Given the description of an element on the screen output the (x, y) to click on. 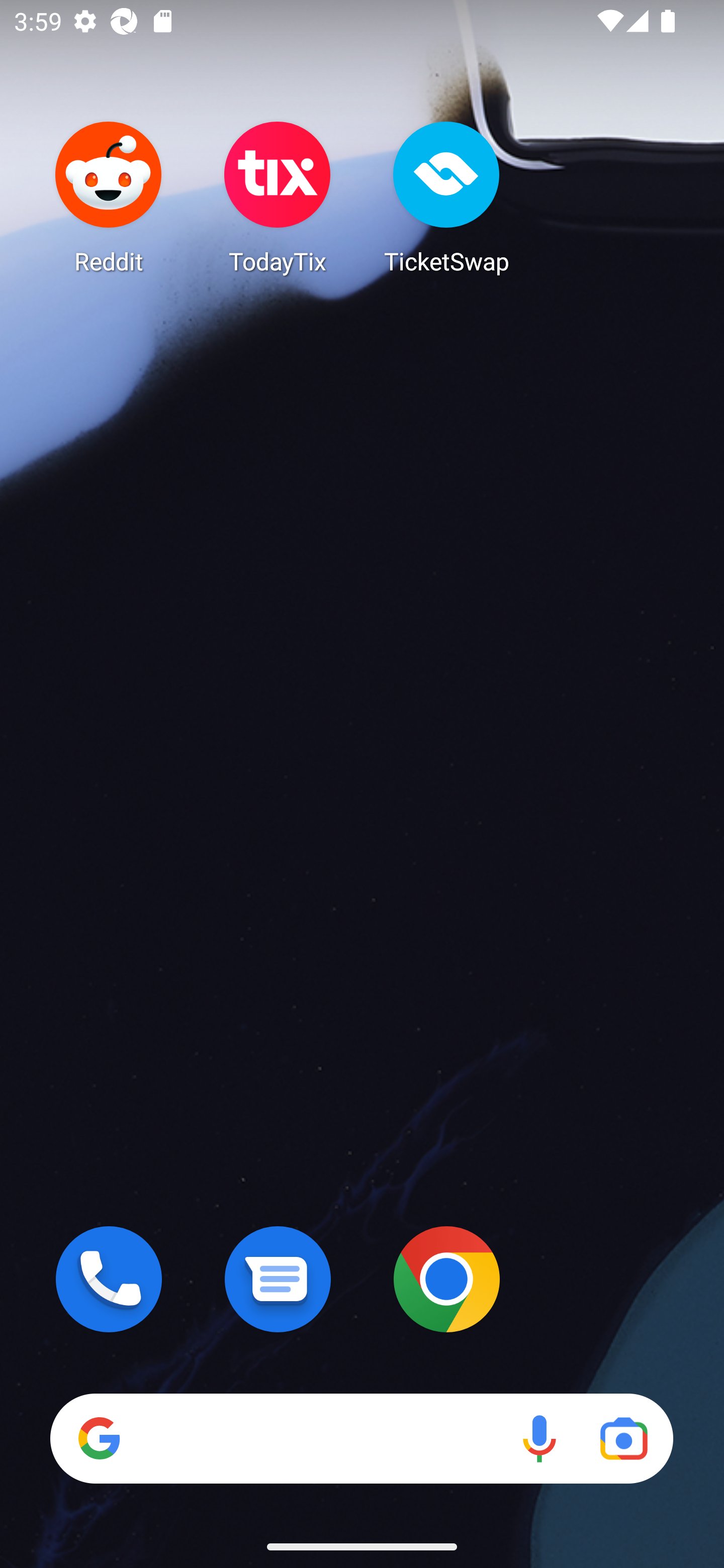
Reddit (108, 196)
TodayTix (277, 196)
TicketSwap (445, 196)
Phone (108, 1279)
Messages (277, 1279)
Chrome (446, 1279)
Voice search (539, 1438)
Google Lens (623, 1438)
